Given the description of an element on the screen output the (x, y) to click on. 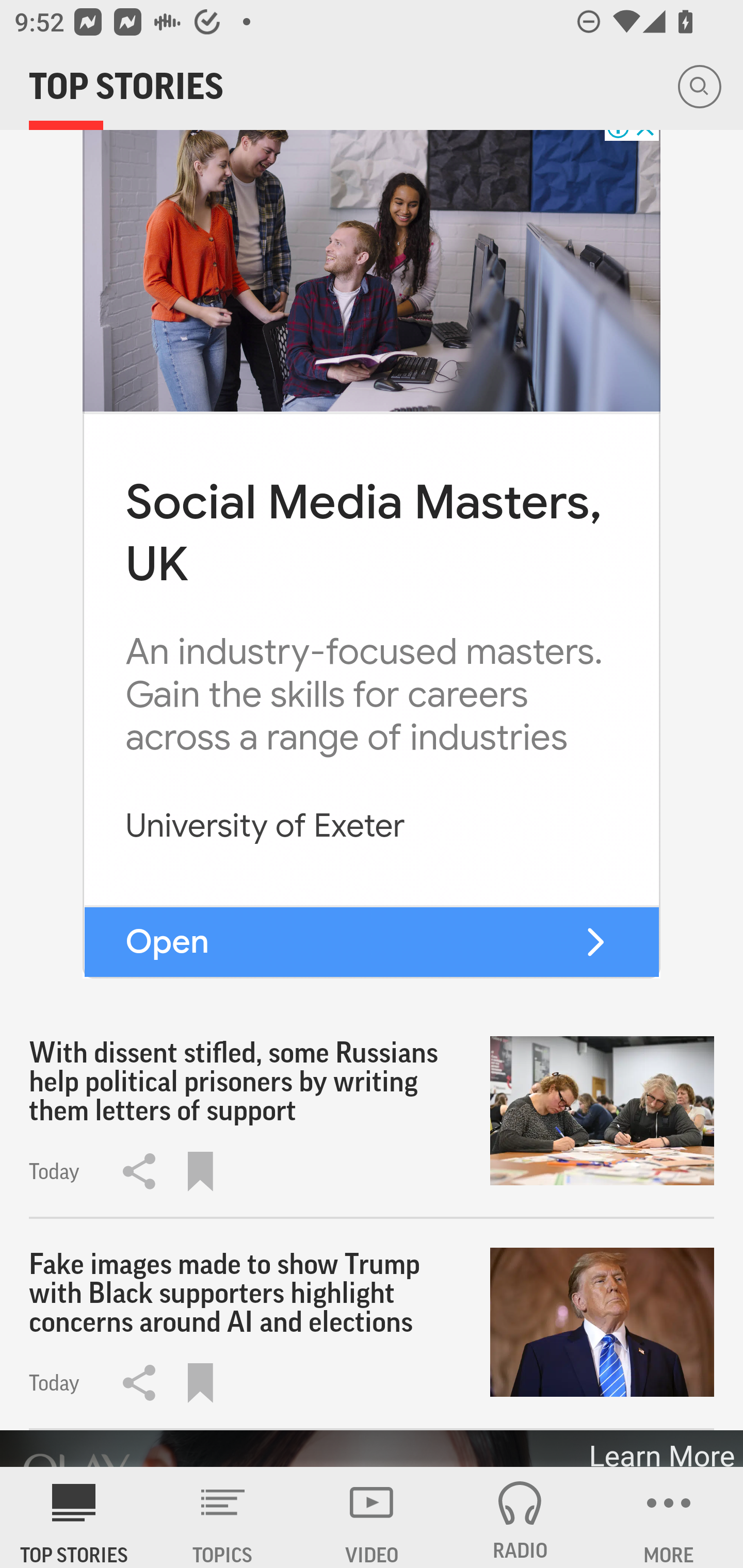
Social Media Masters, UK Social Media Masters, UK (363, 534)
University of Exeter (264, 825)
Open (167, 940)
Learn More (660, 1448)
AP News TOP STORIES (74, 1517)
TOPICS (222, 1517)
VIDEO (371, 1517)
RADIO (519, 1517)
MORE (668, 1517)
